Given the description of an element on the screen output the (x, y) to click on. 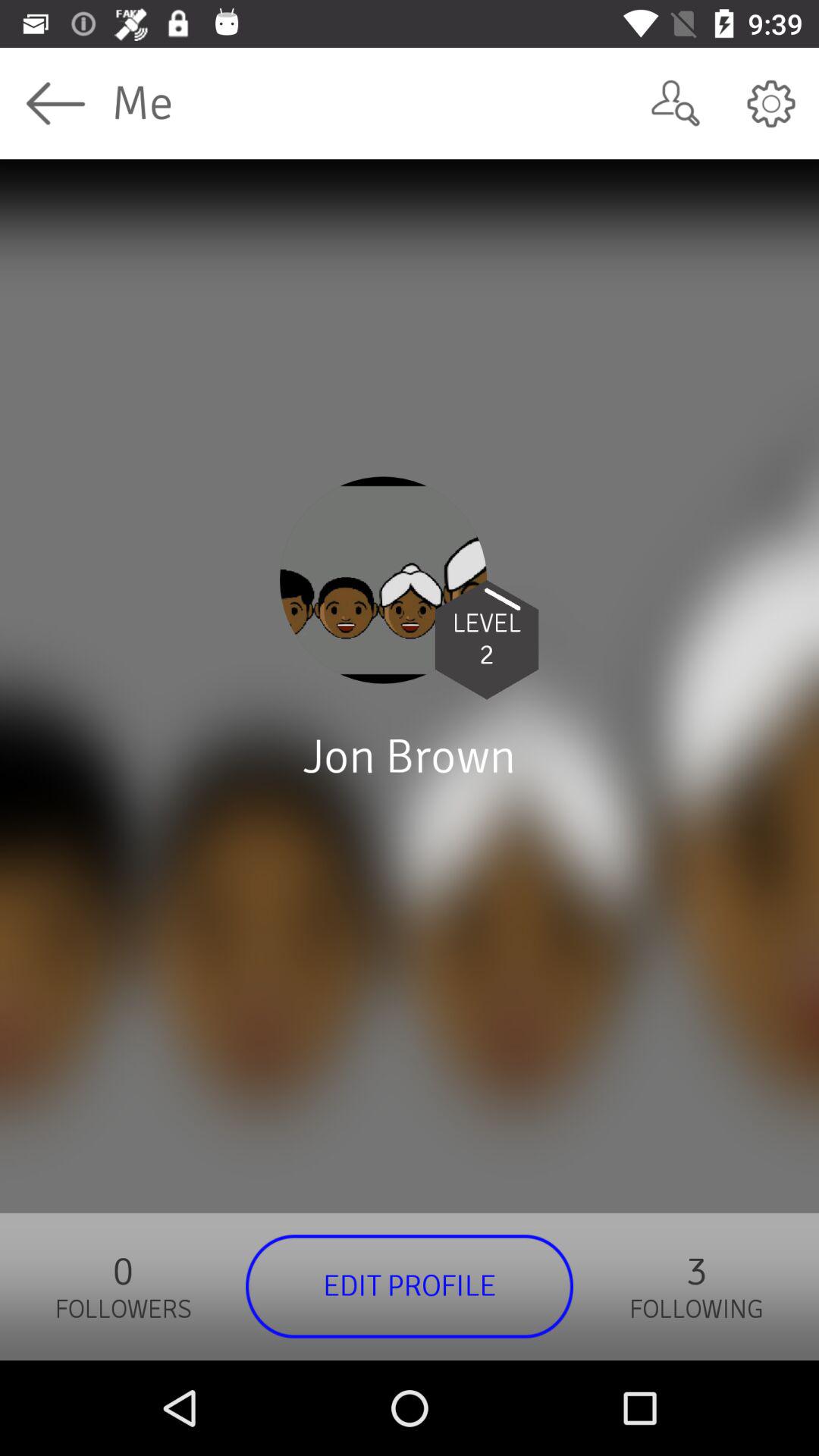
launch app below jon brown app (409, 1286)
